Given the description of an element on the screen output the (x, y) to click on. 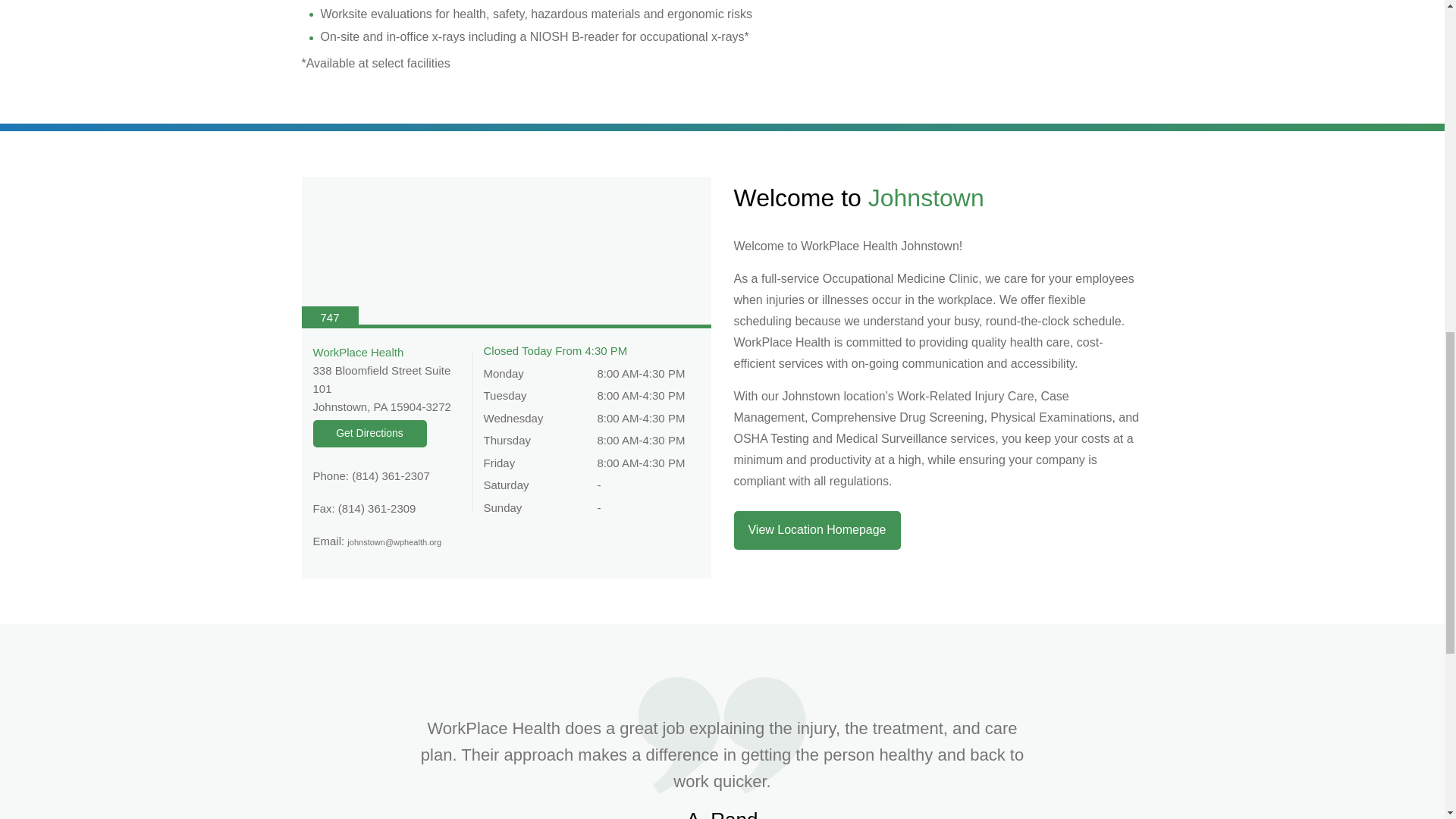
Get Directions (369, 433)
View Location Homepage (817, 530)
747 (506, 252)
